Given the description of an element on the screen output the (x, y) to click on. 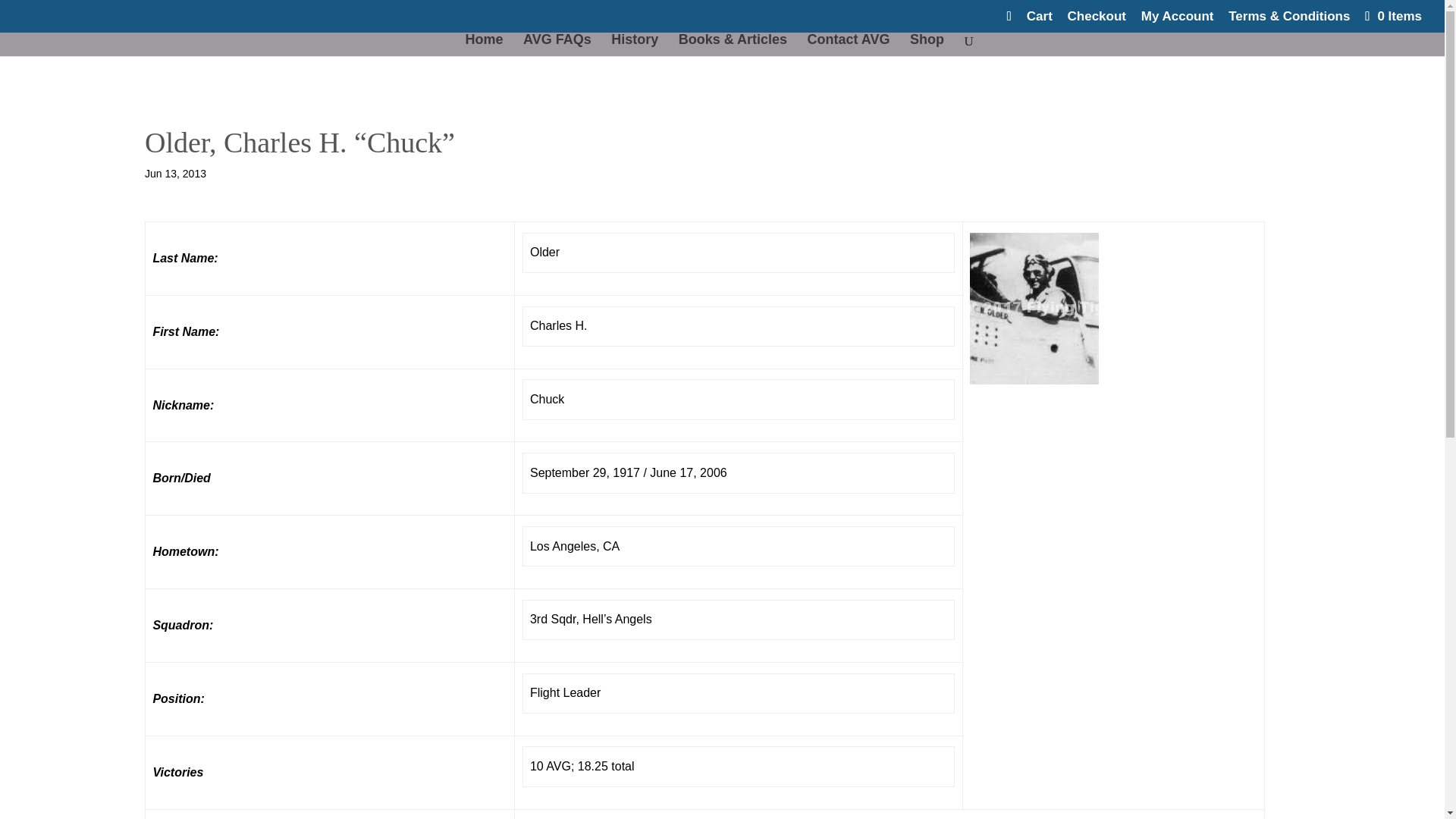
AVG FAQs (556, 45)
Shop (926, 45)
0 Items (1391, 16)
Contact AVG (847, 45)
History (634, 45)
Checkout (1096, 20)
Cart (1039, 20)
My Account (1177, 20)
Home (484, 45)
